Given the description of an element on the screen output the (x, y) to click on. 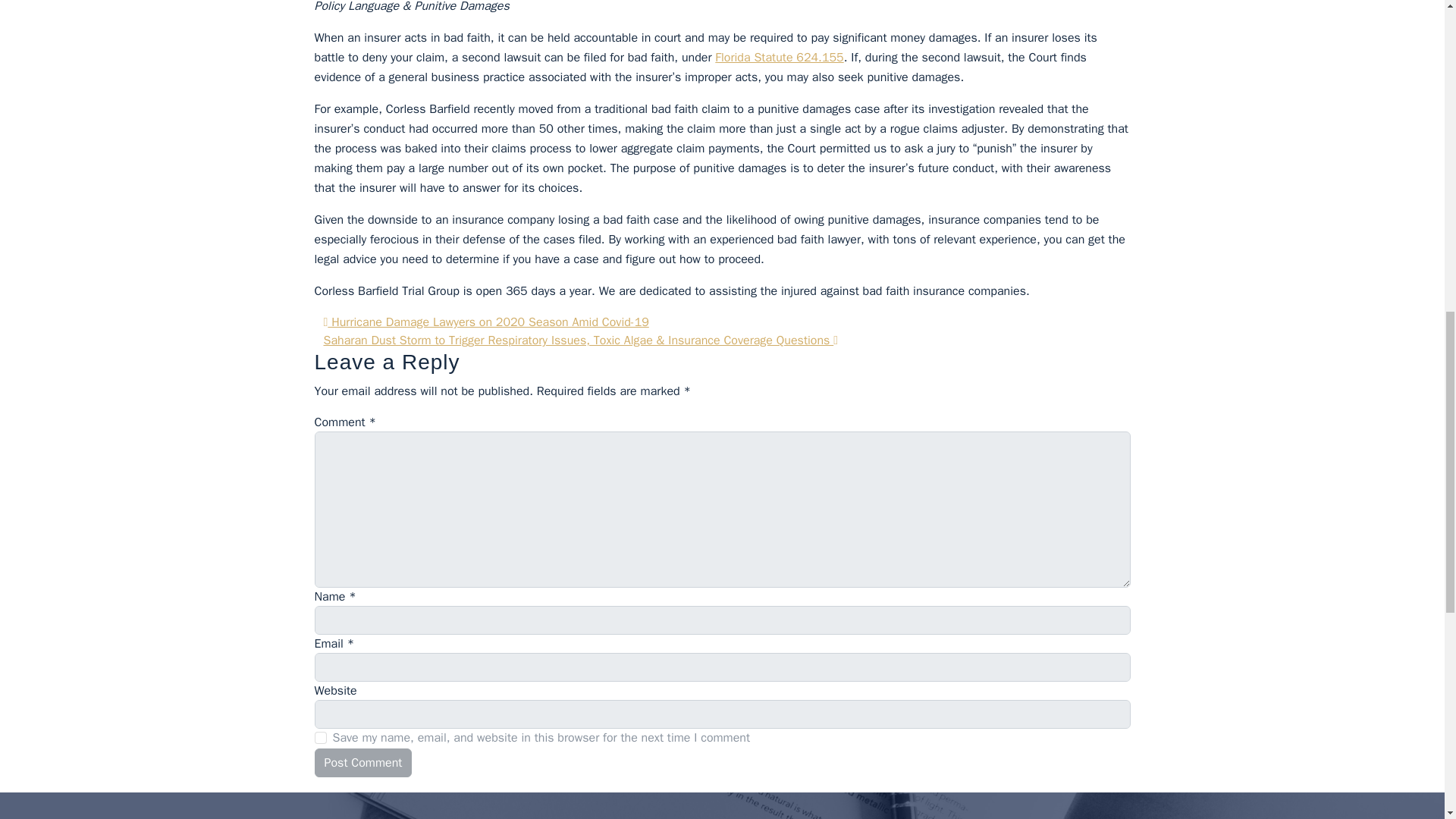
yes (320, 737)
Florida Statute 624.155 (778, 57)
Post Comment (363, 762)
 Hurricane Damage Lawyers on 2020 Season Amid Covid-19 (485, 322)
Post Comment (363, 762)
